Given the description of an element on the screen output the (x, y) to click on. 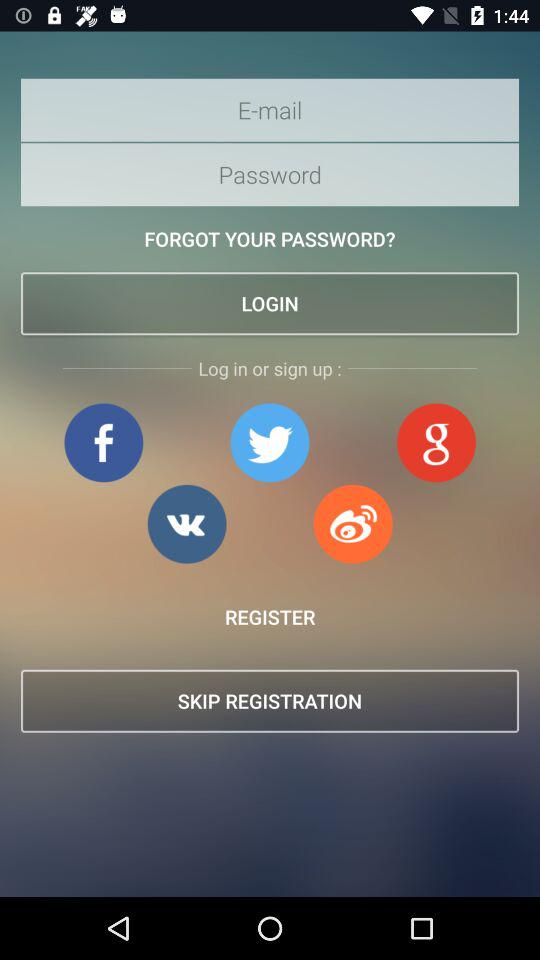
login/sign up whit facebook (103, 442)
